Given the description of an element on the screen output the (x, y) to click on. 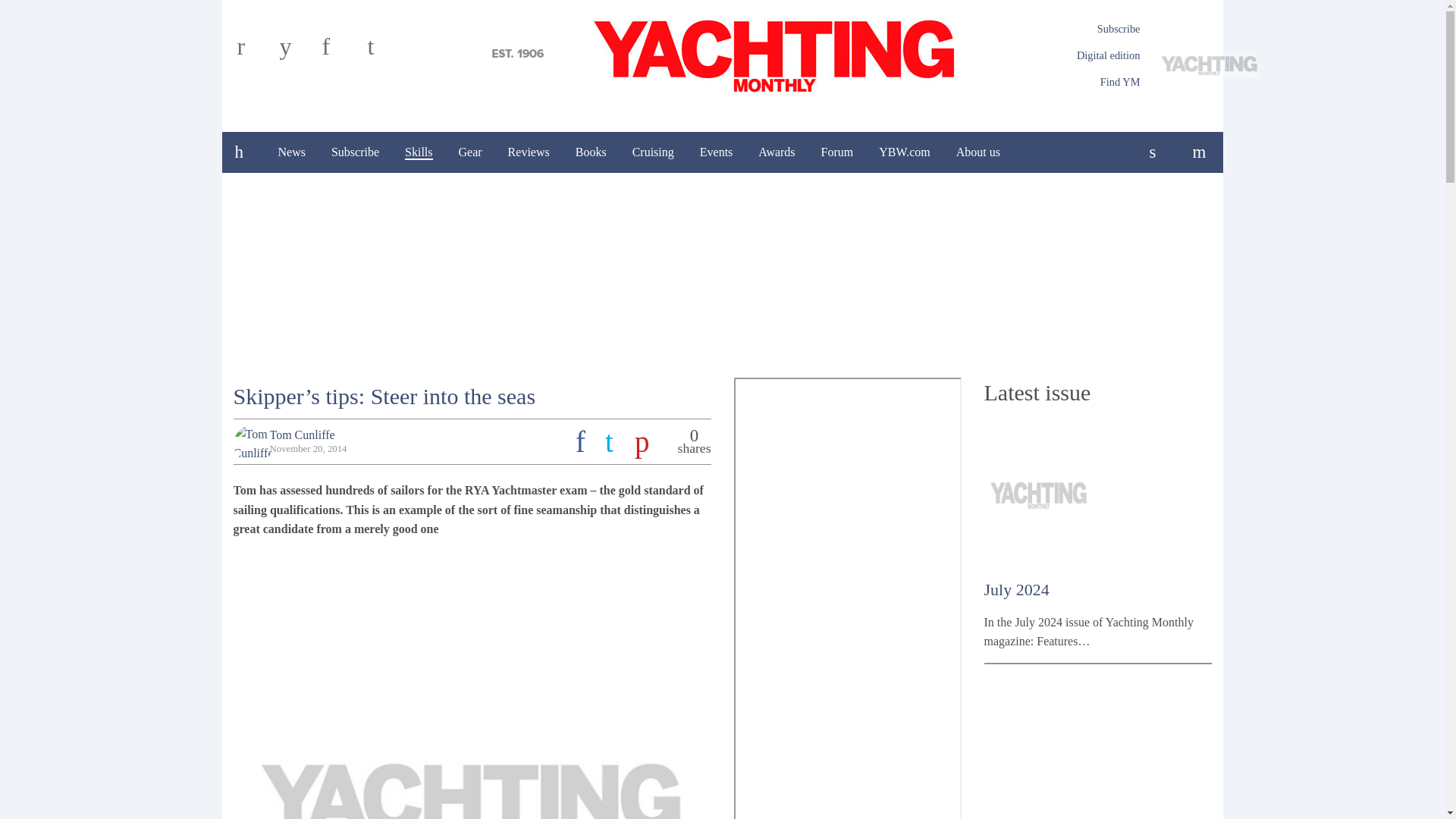
Find YM (1120, 81)
Digital edition (1108, 55)
Subscribe (354, 151)
Digital edition (1108, 55)
Skills (418, 151)
Gear (470, 151)
Tom Cunliffe's Profile (301, 434)
News (291, 151)
Books (591, 151)
Cruising (653, 151)
r (254, 52)
Awards (776, 151)
Find YM (1120, 81)
Reviews (528, 151)
Subscribe (1118, 28)
